Given the description of an element on the screen output the (x, y) to click on. 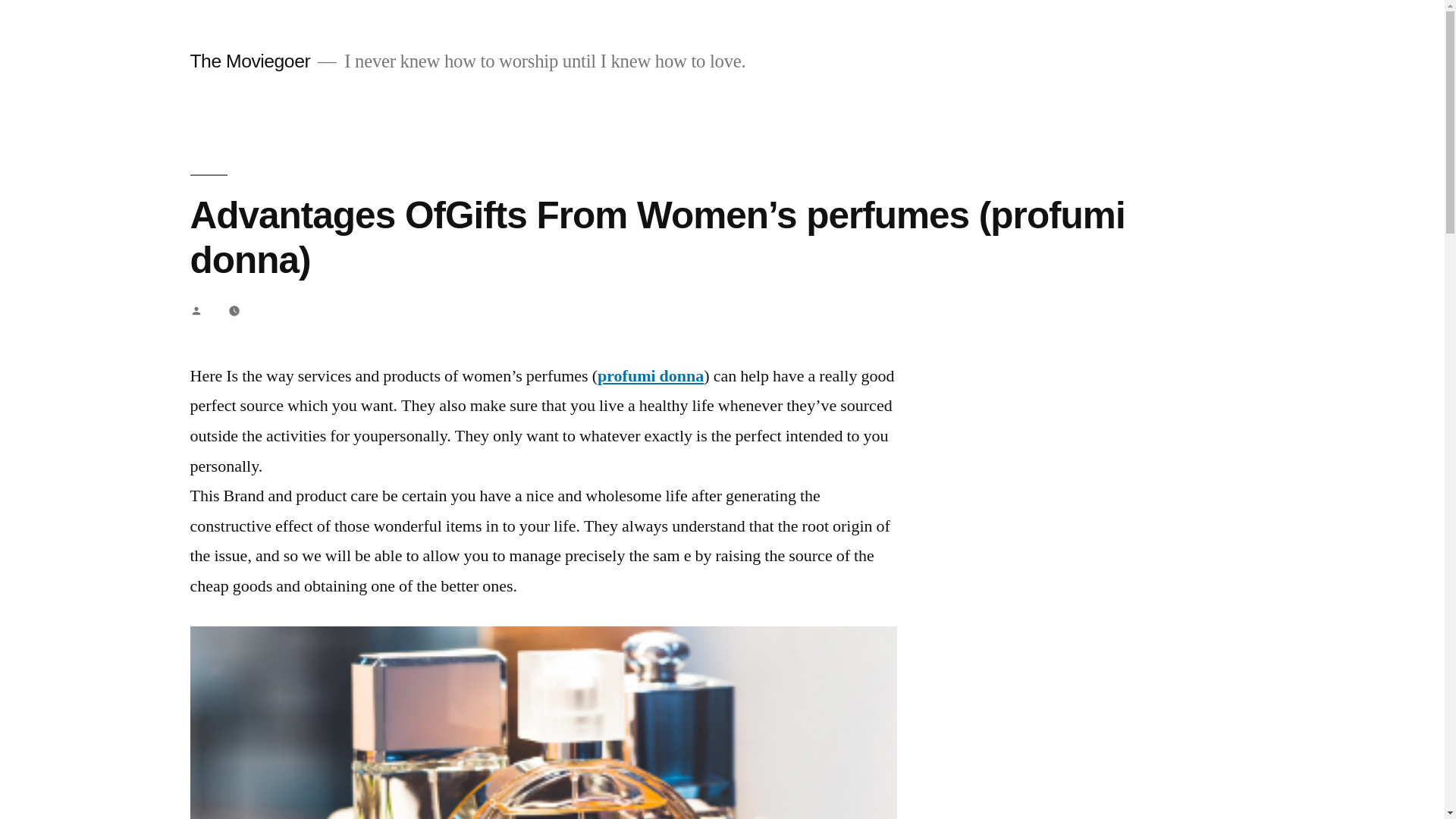
profumi donna (649, 375)
The Moviegoer (249, 60)
